Given the description of an element on the screen output the (x, y) to click on. 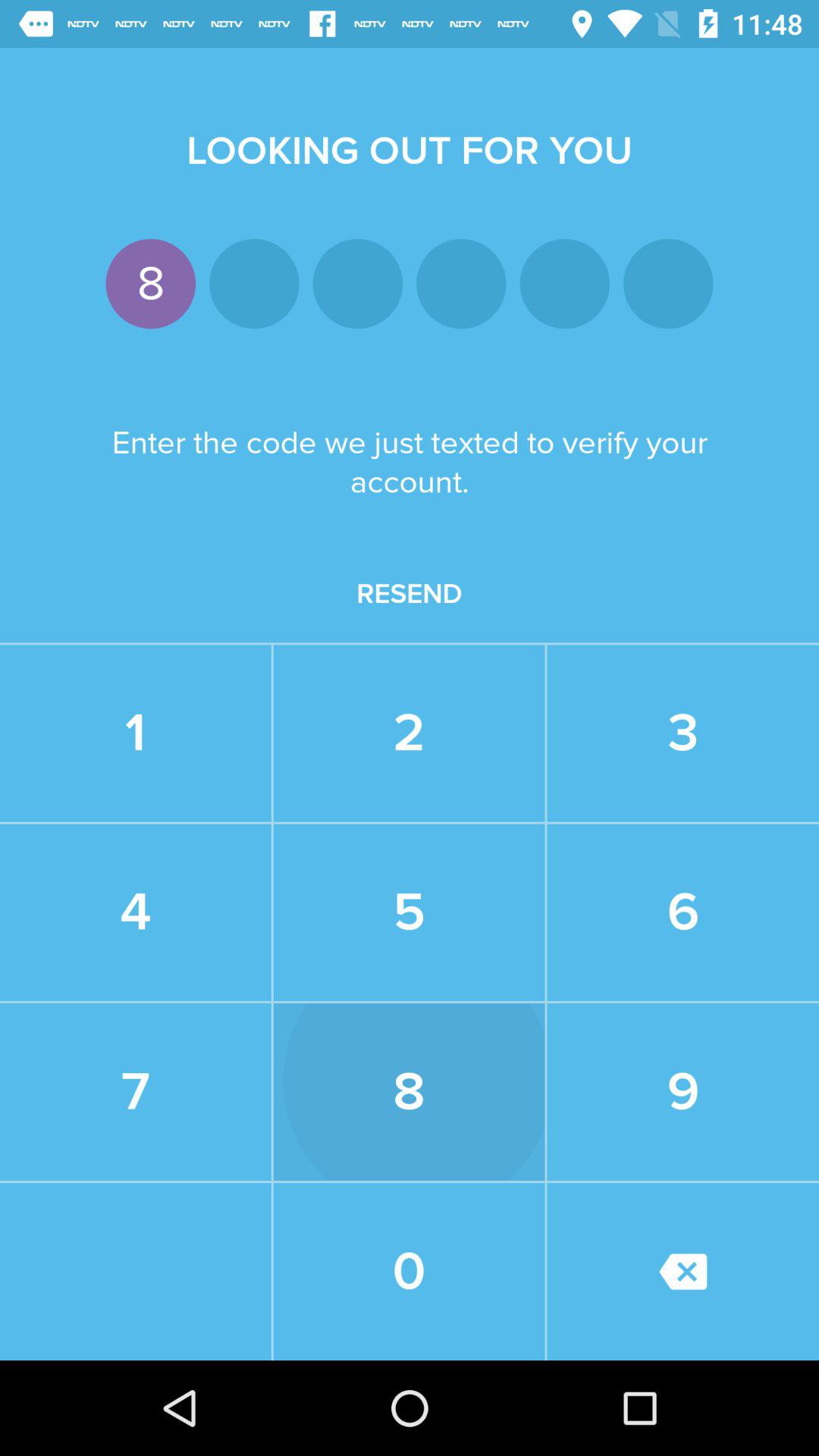
click item below enter the code item (409, 593)
